Given the description of an element on the screen output the (x, y) to click on. 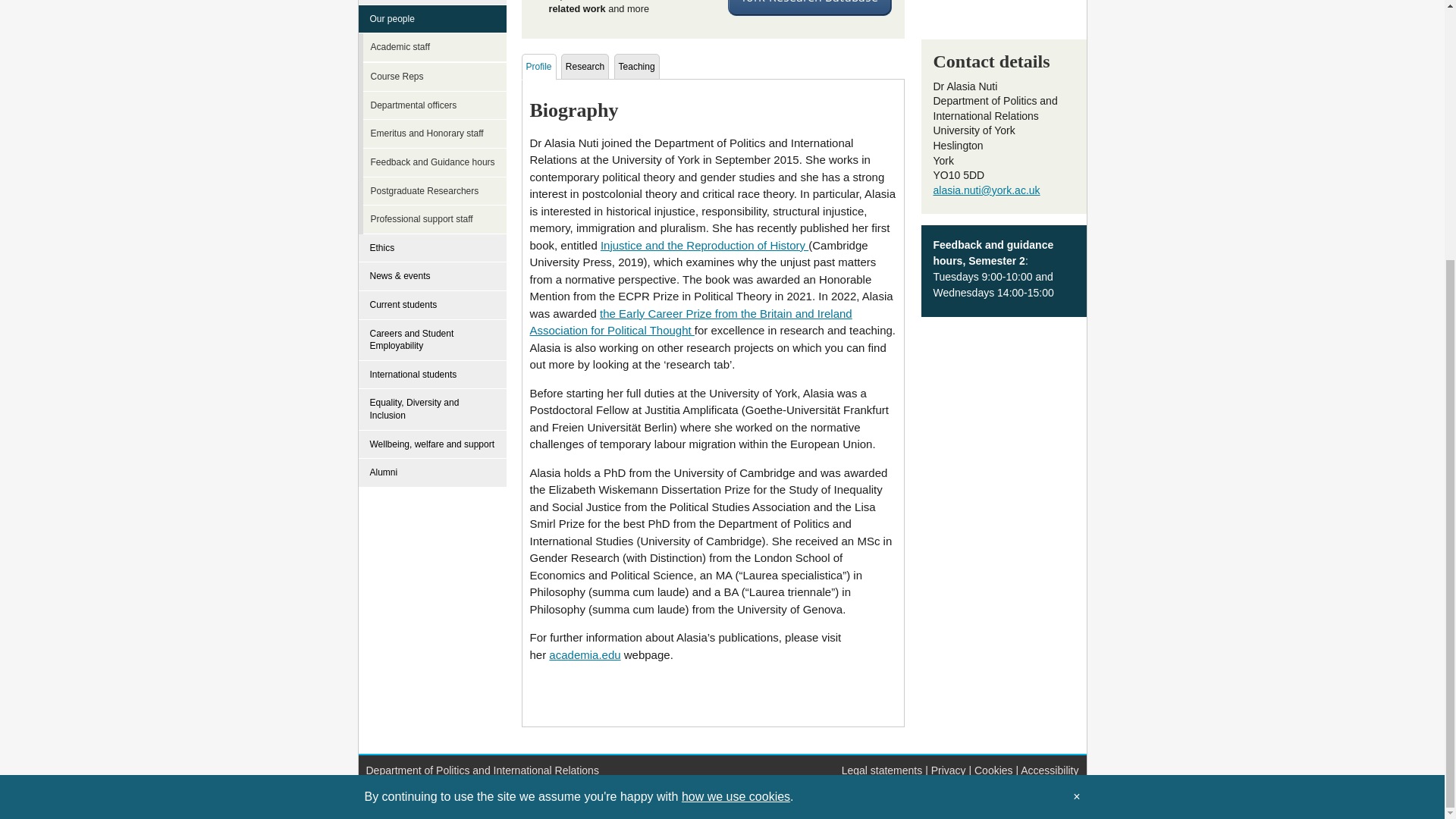
Academic staff (436, 47)
Ethics (432, 248)
View my profile in the York Research Database (808, 8)
Alasia Nuti image (995, 11)
Professional support staff (436, 219)
Current students (432, 305)
International students (432, 375)
Alumni (432, 472)
Equality, Diversity and Inclusion (432, 409)
Injustice and the Reproduction of History  (703, 245)
